Given the description of an element on the screen output the (x, y) to click on. 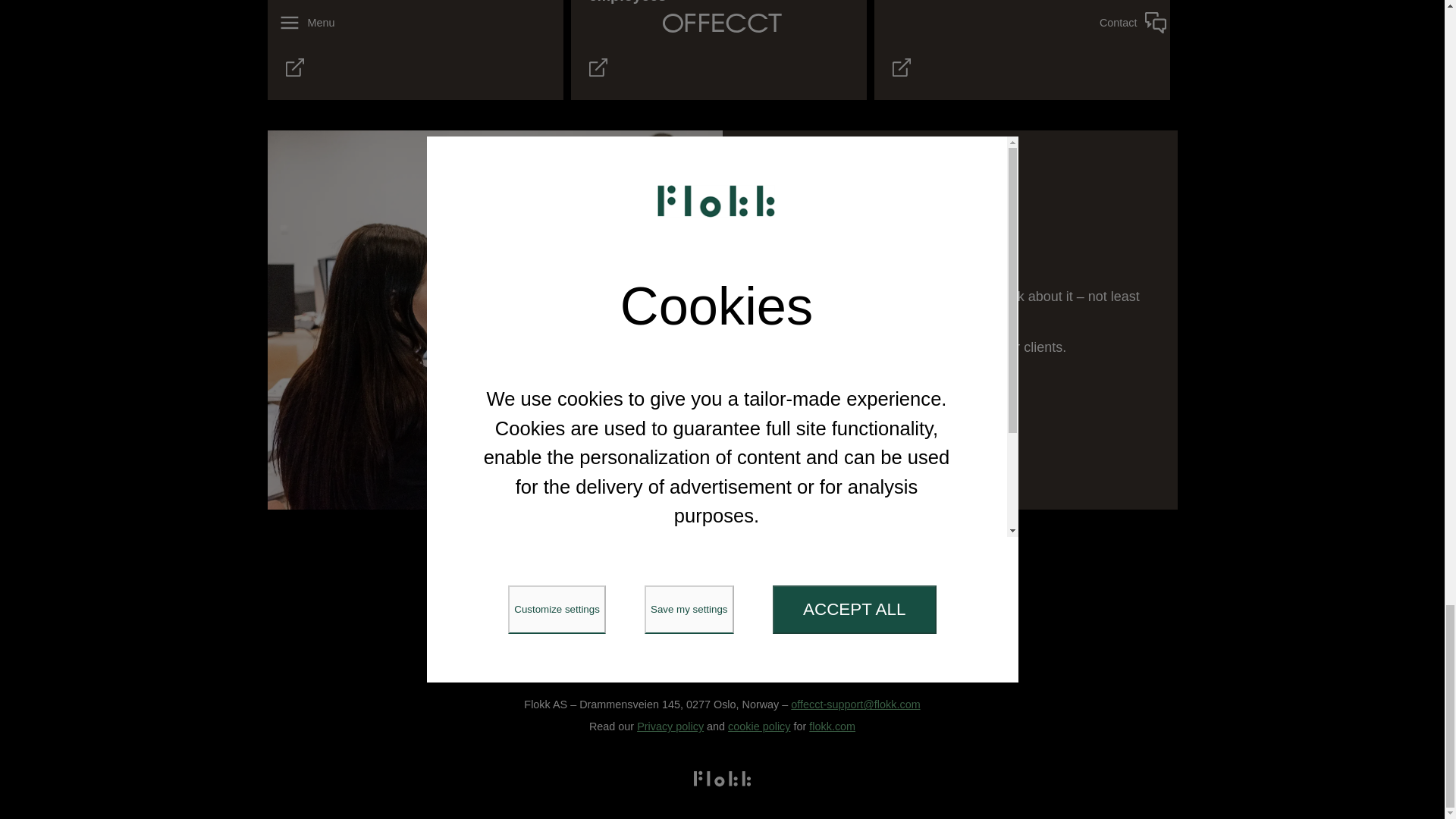
Designers (736, 576)
cookie policy (759, 726)
Privacy policy (670, 726)
flokk.com (832, 726)
Contact (932, 576)
Furniture (574, 576)
Get in touch with us (768, 388)
Acoustics (653, 576)
Home (505, 576)
About (868, 576)
Offecct (721, 528)
Our official instagram account (695, 620)
Books (809, 576)
